Given the description of an element on the screen output the (x, y) to click on. 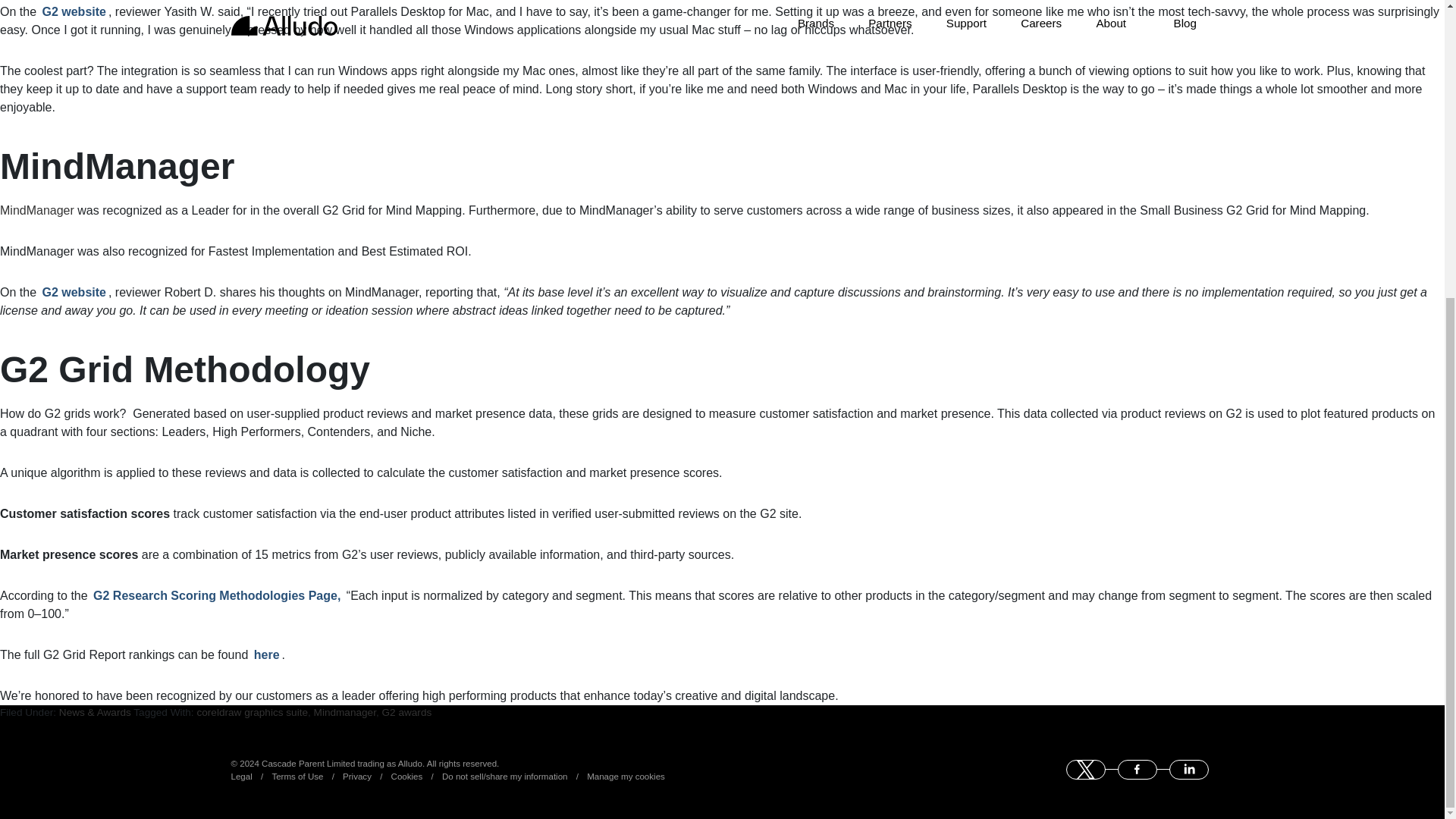
Alludo Twitter (1085, 769)
Facebook (1137, 769)
G2 website (73, 11)
LinkedIn (1188, 769)
Alludo LinkedIn (1188, 769)
Alludo Facebook (1137, 769)
